Given the description of an element on the screen output the (x, y) to click on. 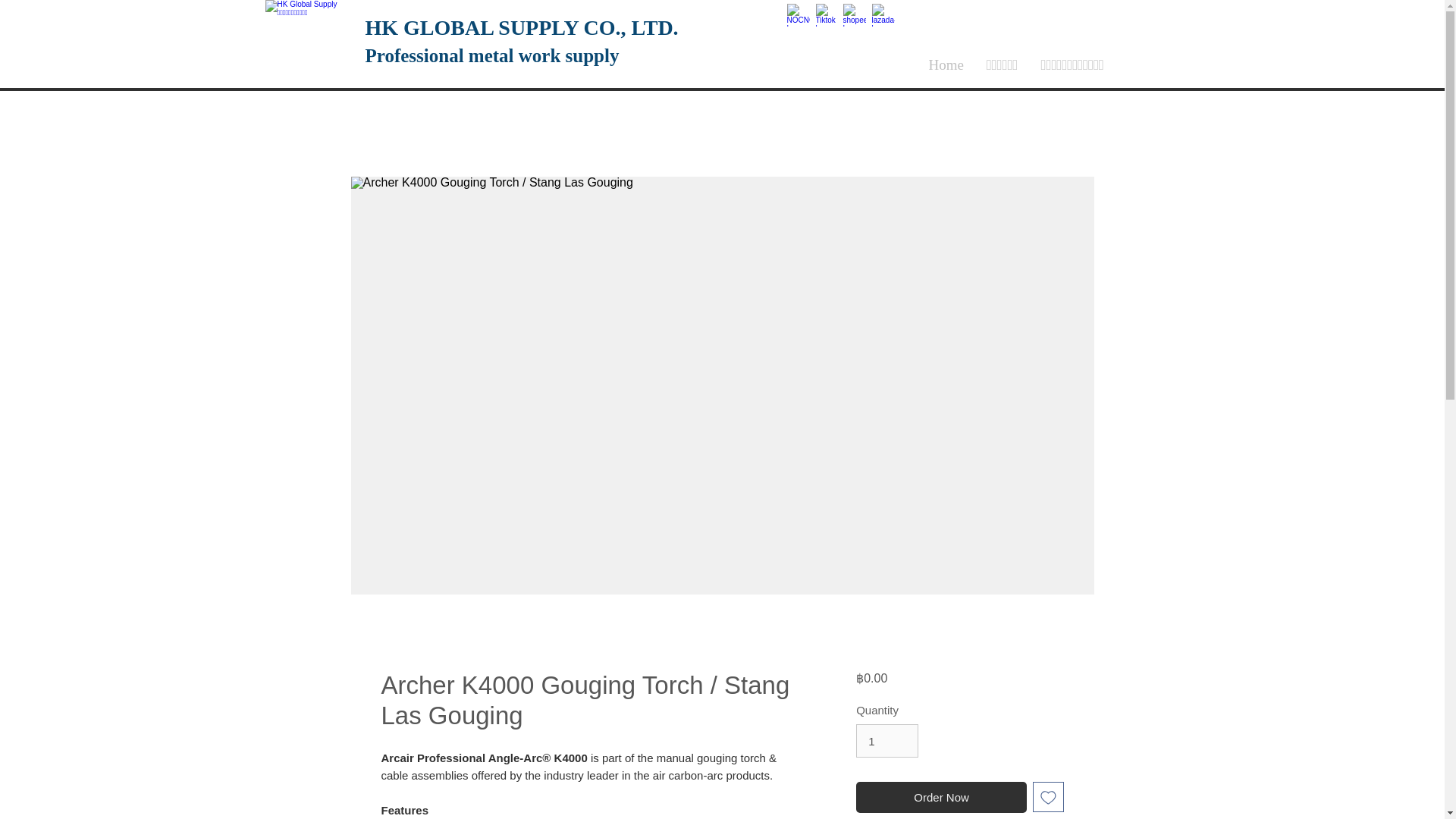
Home (946, 64)
HK GLOBAL SUPPLY CO., LTD. (521, 27)
Professional metal work supply (492, 55)
1 (887, 740)
Order Now (941, 797)
